Given the description of an element on the screen output the (x, y) to click on. 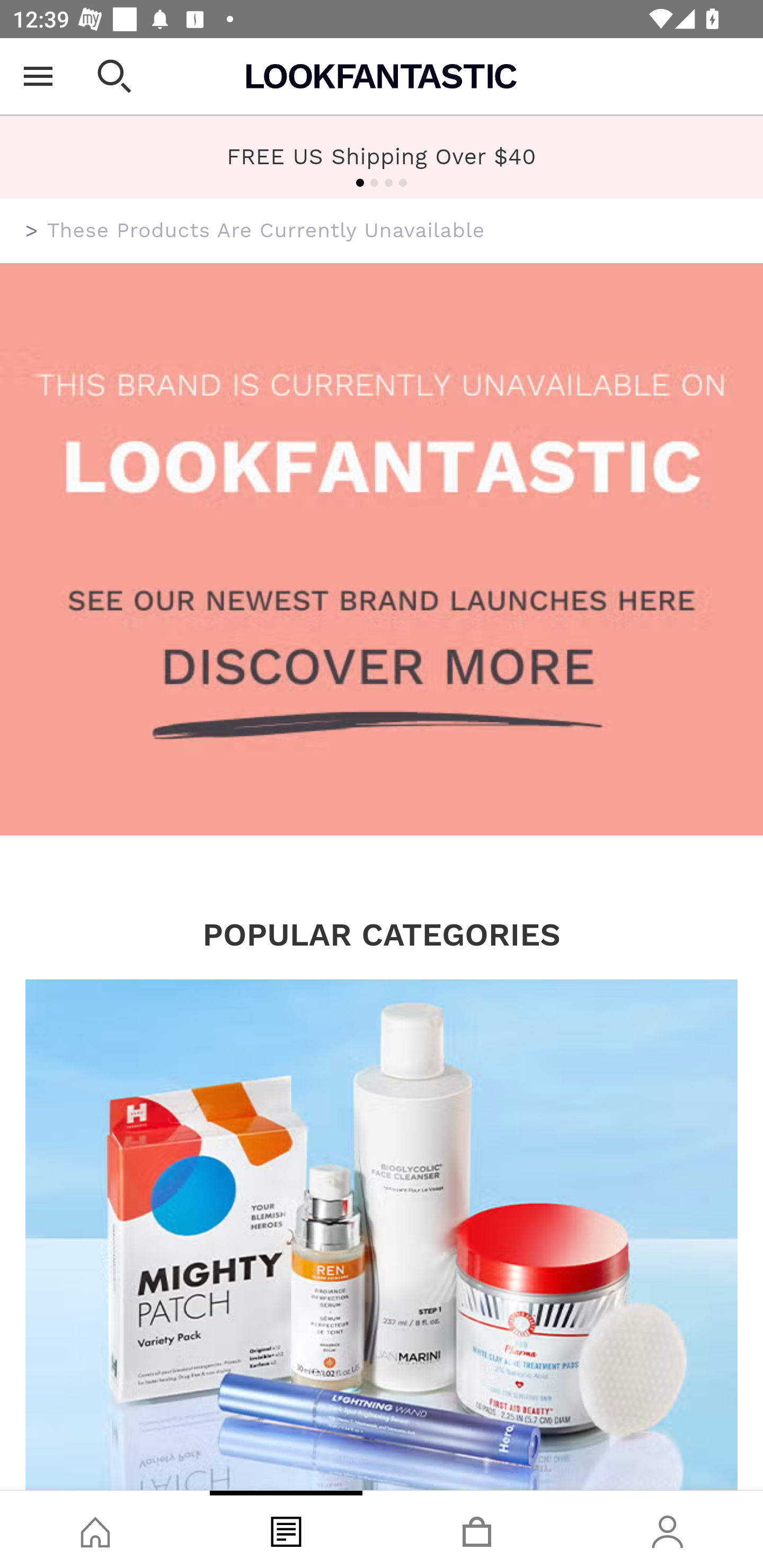
Open Menu (38, 75)
Open search (114, 75)
Lookfantastic USA (381, 75)
FREE US Shipping Over $40 (381, 155)
us.lookfantastic (32, 230)
POPULAR CATEGORIES Skin Care (381, 1203)
Skin Care (381, 1234)
Shop, tab, 1 of 4 (95, 1529)
Blog, tab, 2 of 4 (285, 1529)
Basket, tab, 3 of 4 (476, 1529)
Account, tab, 4 of 4 (667, 1529)
